Given the description of an element on the screen output the (x, y) to click on. 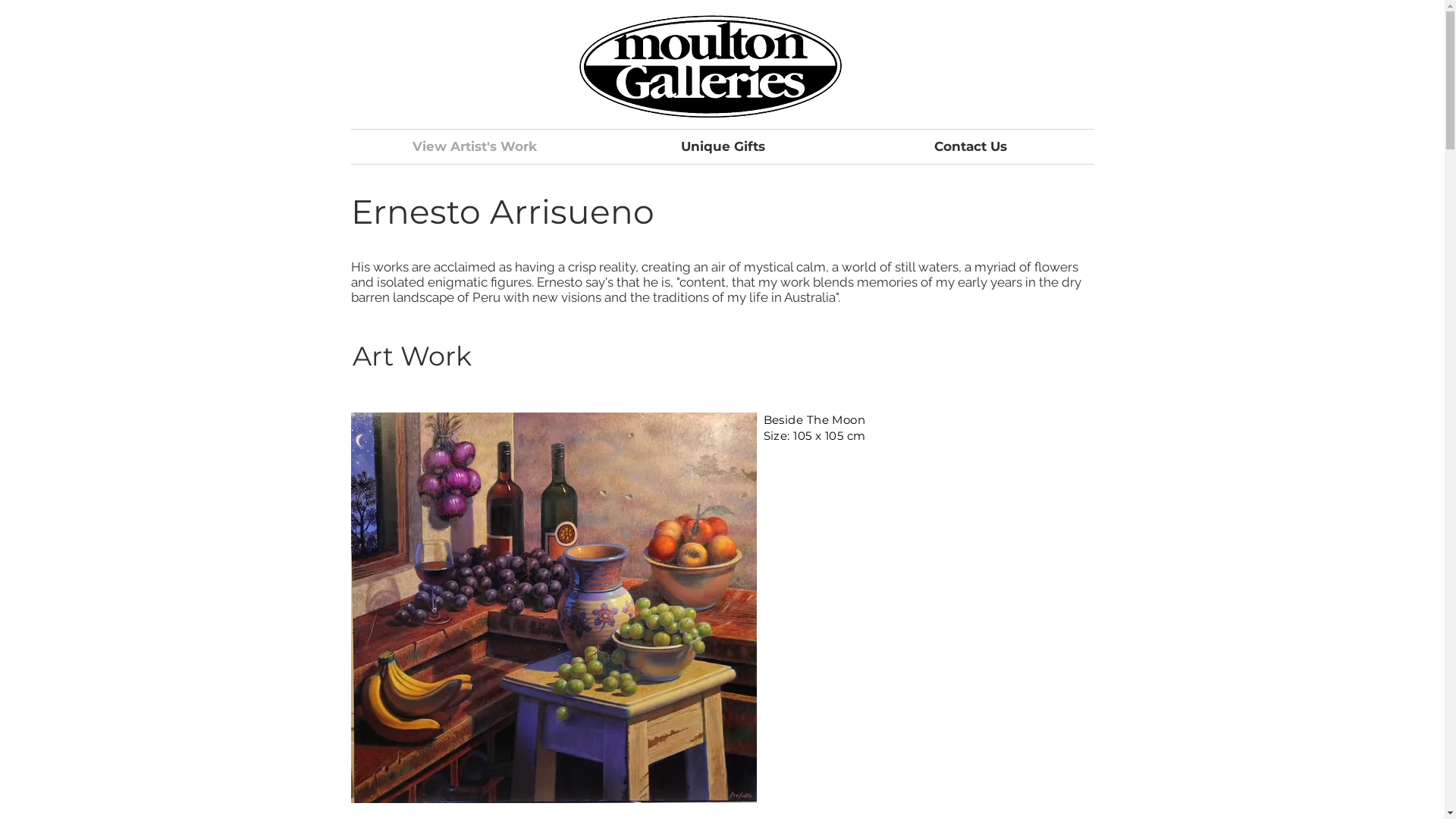
View Artist's Work Element type: text (474, 146)
Unique Gifts Element type: text (723, 146)
Contact Us Element type: text (969, 146)
